Given the description of an element on the screen output the (x, y) to click on. 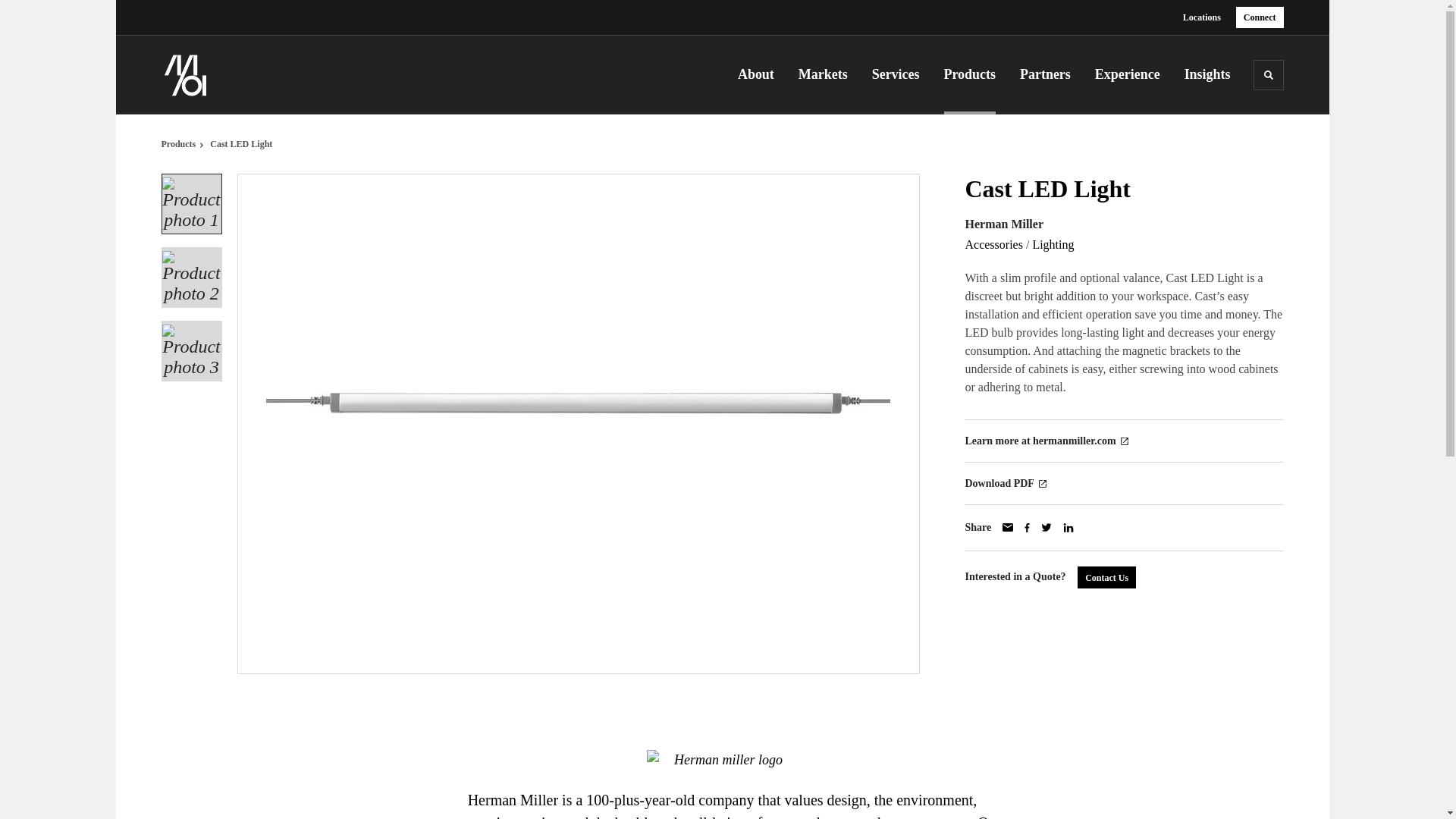
Insights (1207, 74)
Insights (1207, 74)
MOI (236, 73)
About (761, 74)
Products (974, 74)
Locations (1201, 17)
About (761, 74)
Locations (1201, 17)
Services (901, 74)
Products (974, 74)
Markets (828, 74)
Connect (1260, 16)
Services (901, 74)
Experience (1132, 74)
Connect (1260, 16)
